Given the description of an element on the screen output the (x, y) to click on. 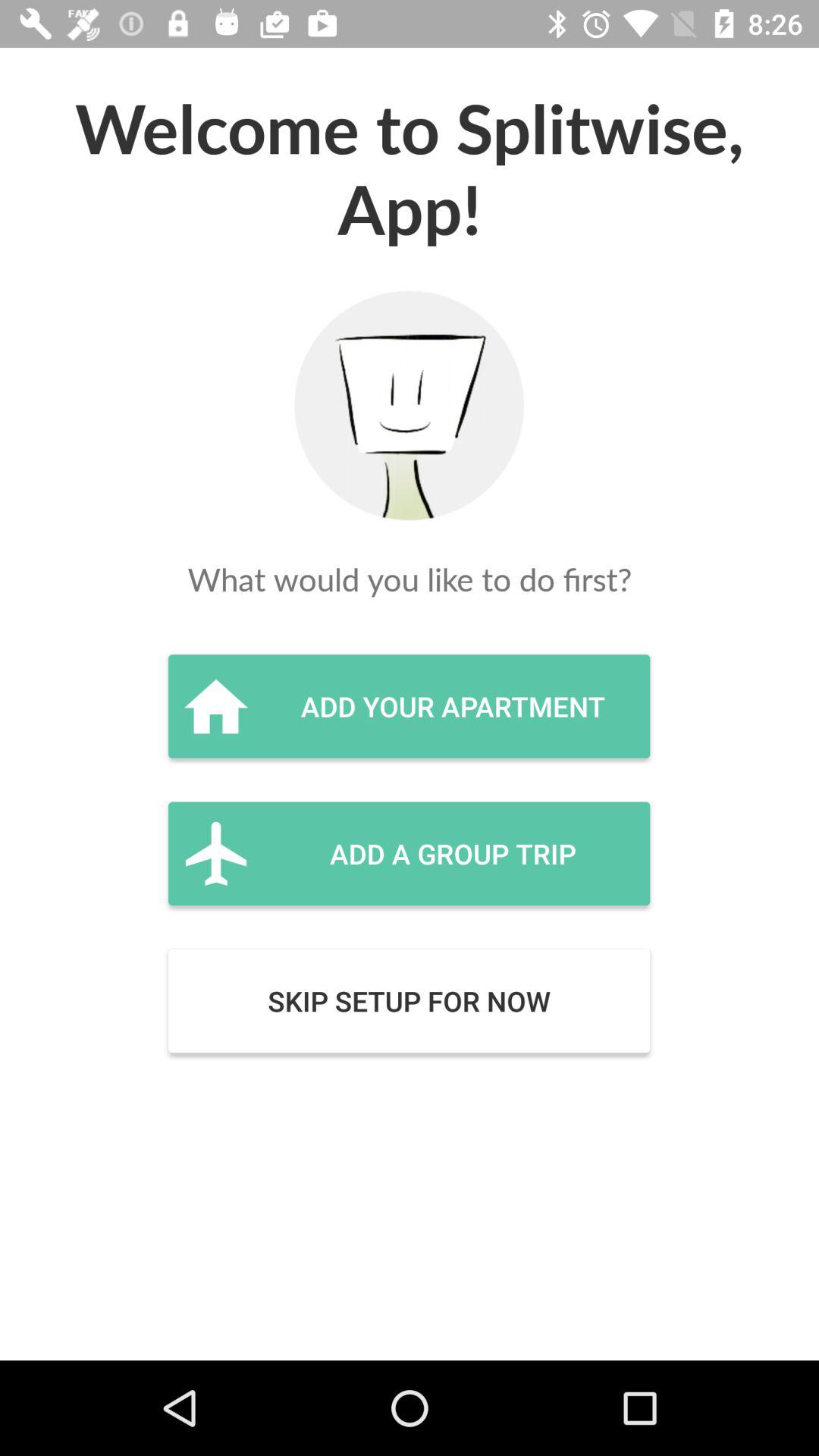
press icon below the what would you (409, 706)
